Given the description of an element on the screen output the (x, y) to click on. 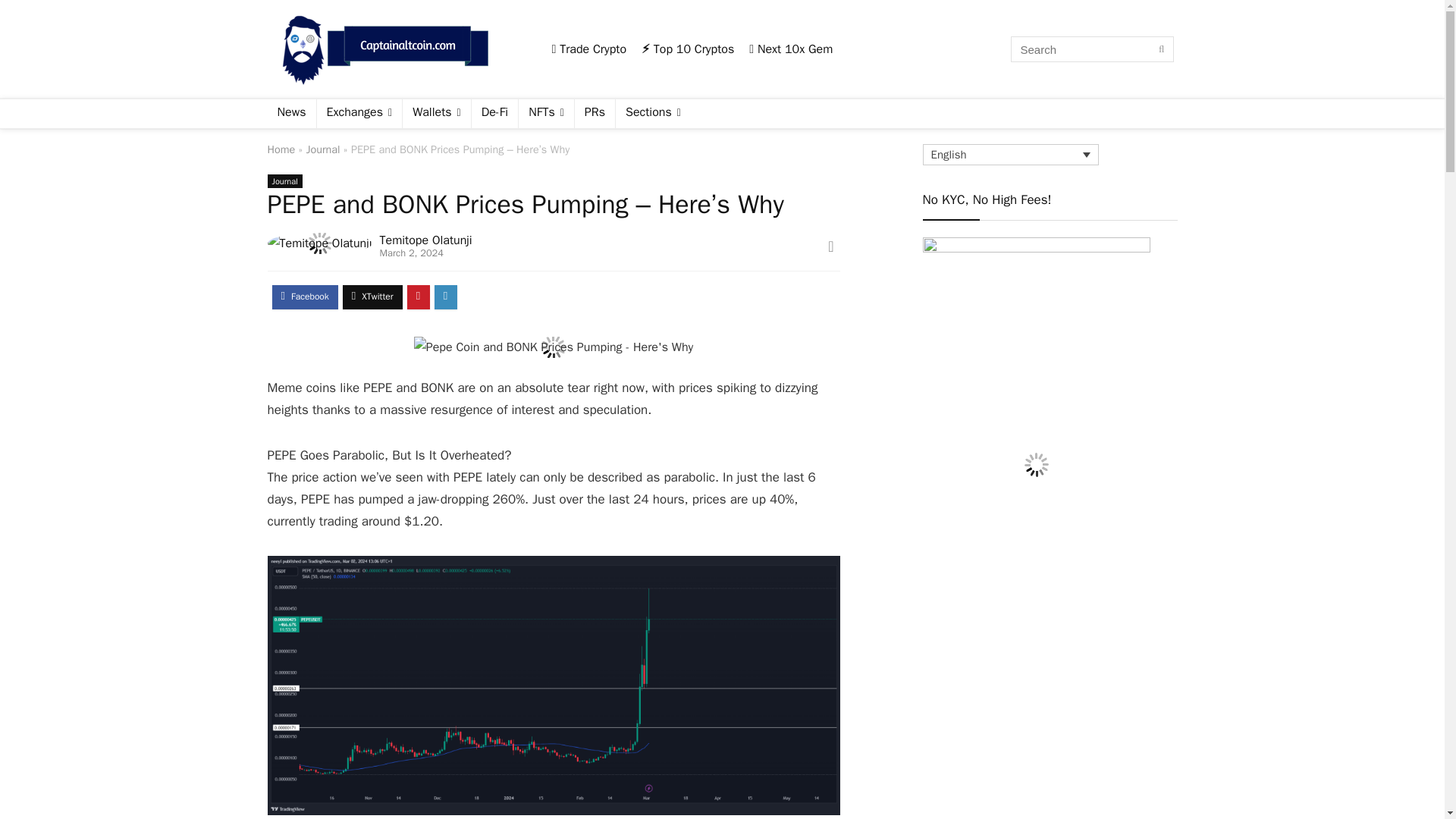
De-Fi (494, 113)
News (290, 113)
PRs (594, 113)
Binance (589, 48)
Exchanges (360, 113)
NFTs (545, 113)
Rocketxchange (1035, 244)
Sections (652, 113)
Wallets (436, 113)
View all posts in Journal (283, 181)
